Given the description of an element on the screen output the (x, y) to click on. 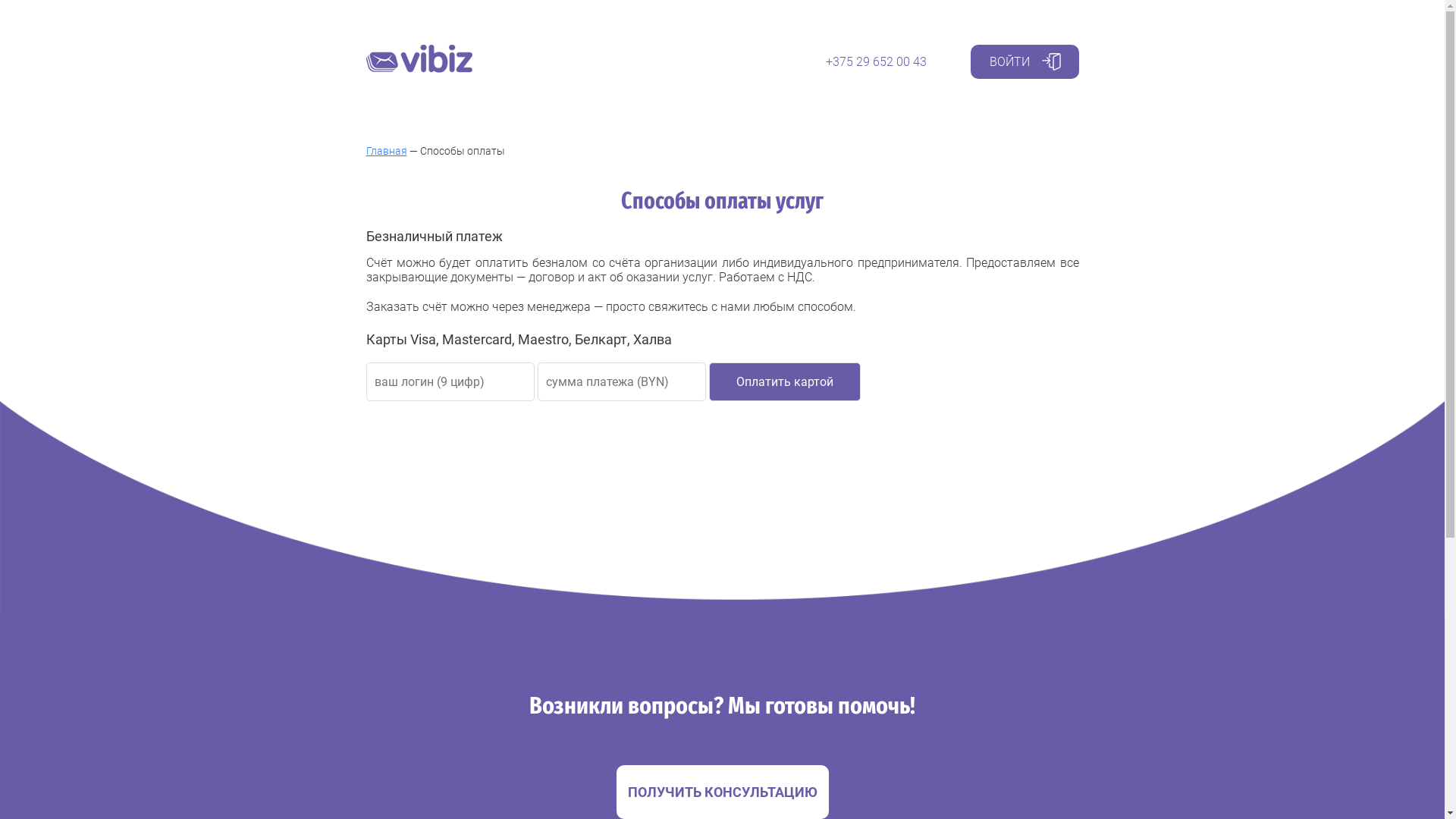
+375 29 652 00 43 Element type: text (875, 61)
